Given the description of an element on the screen output the (x, y) to click on. 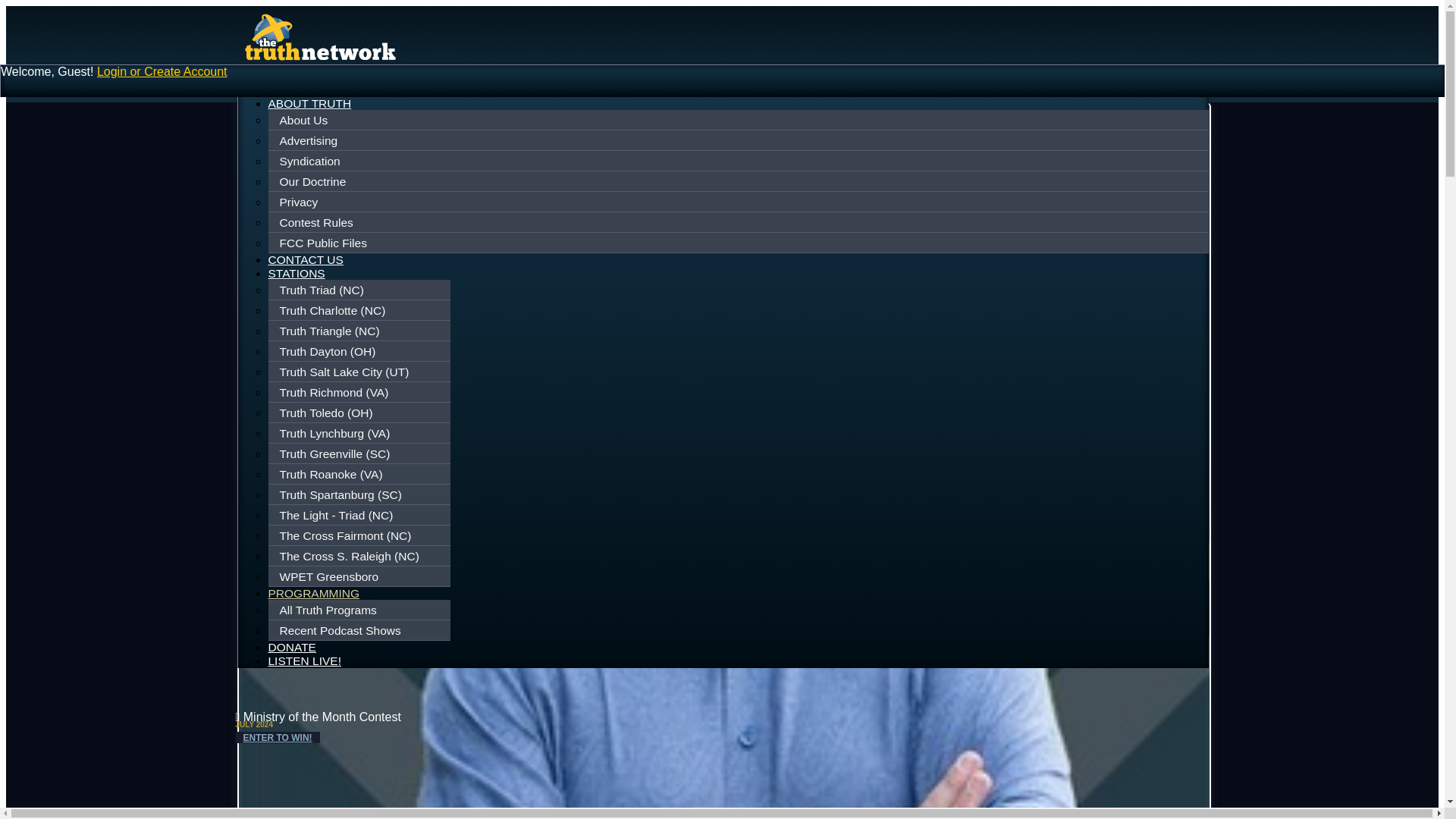
STATIONS (295, 273)
ABOUT TRUTH (309, 103)
About Us (739, 120)
Advertising (739, 140)
WPET Greensboro (360, 576)
HOME (285, 89)
FCC Public Files (739, 243)
Privacy (739, 202)
Our Doctrine (739, 181)
Contest Rules (739, 222)
Syndication (739, 161)
CONTACT US (305, 259)
PROGRAMMING (313, 594)
